Given the description of an element on the screen output the (x, y) to click on. 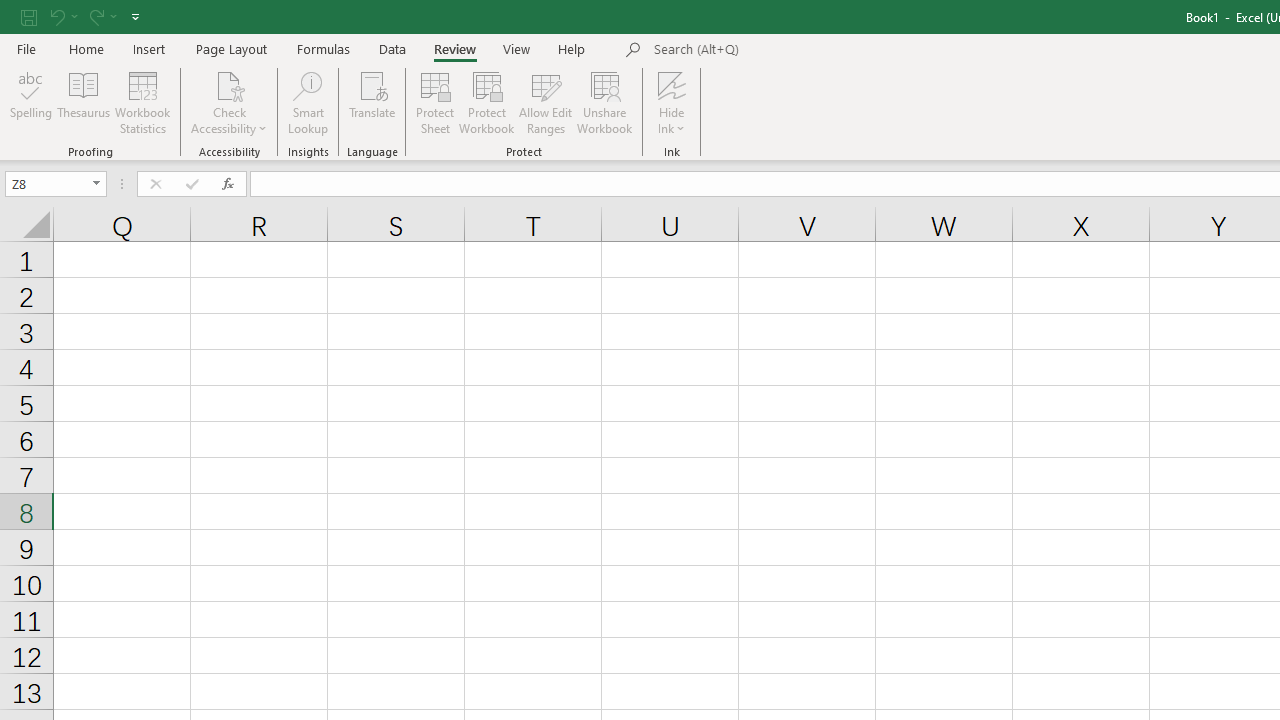
Check Accessibility (229, 84)
Protect Sheet... (434, 102)
Hide Ink (671, 102)
